Given the description of an element on the screen output the (x, y) to click on. 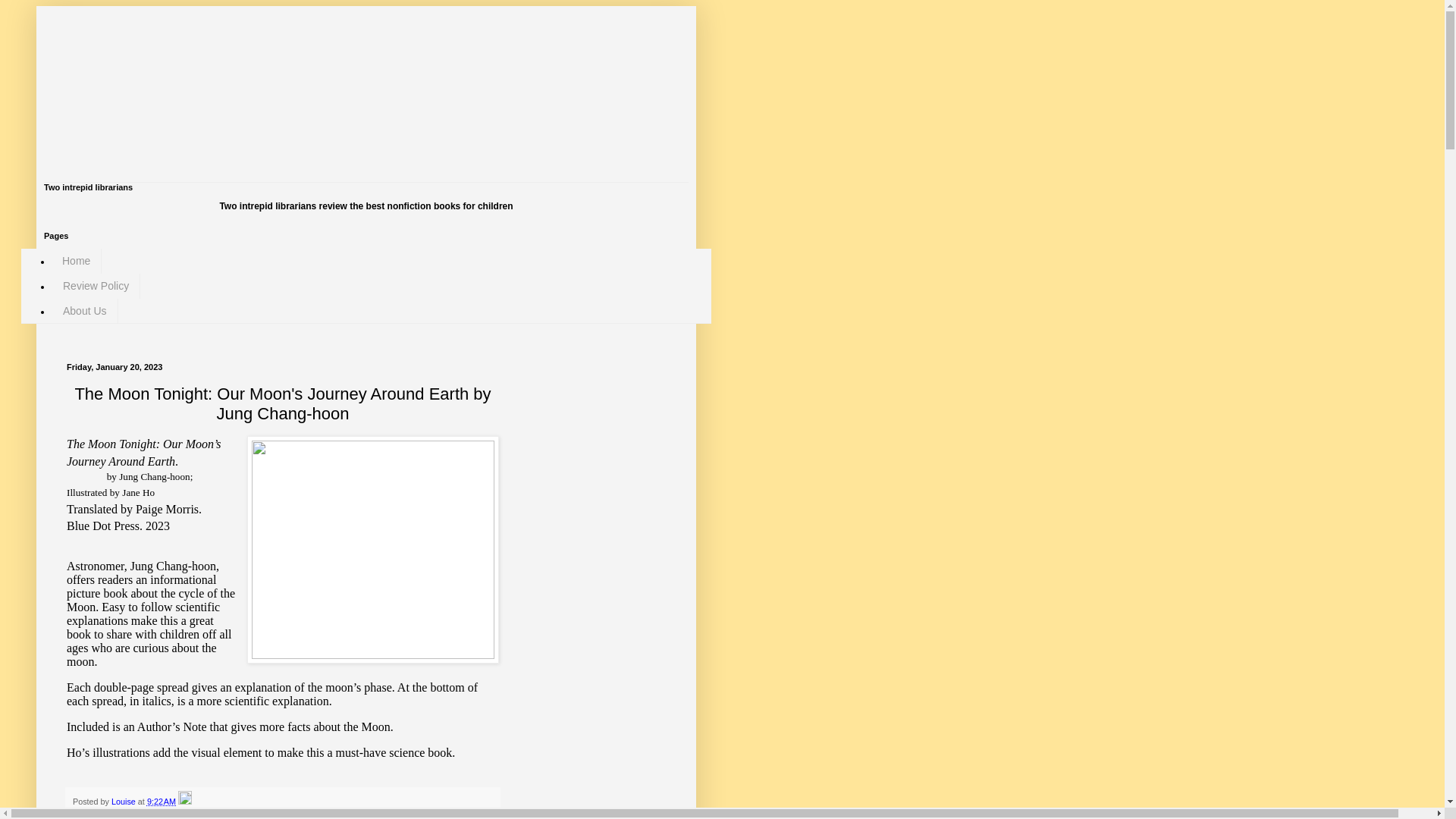
Share to Pinterest (303, 814)
Share to Twitter (173, 814)
Share to Pinterest (303, 814)
Review Policy (94, 285)
About Us (83, 310)
Email This (91, 814)
Share to Twitter (173, 814)
Louise (125, 800)
BlogThis! (127, 814)
permanent link (161, 800)
author profile (125, 800)
Home (75, 260)
Share to Facebook (236, 814)
Edit Post (184, 800)
